Given the description of an element on the screen output the (x, y) to click on. 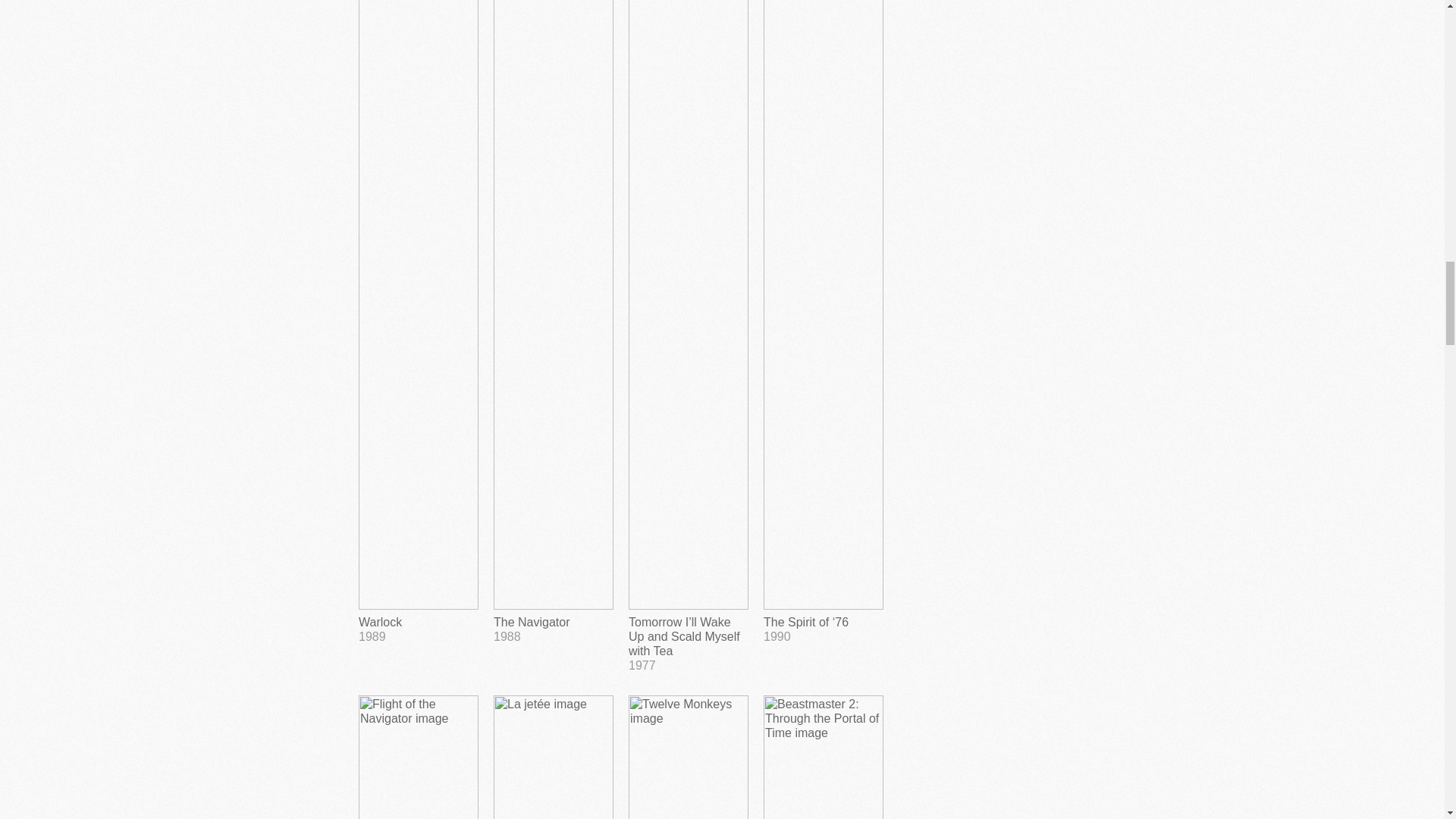
Flight of the Navigator (688, 757)
Beastmaster 2: Through the Portal of Time (822, 757)
Twelve Monkeys (418, 757)
